Given the description of an element on the screen output the (x, y) to click on. 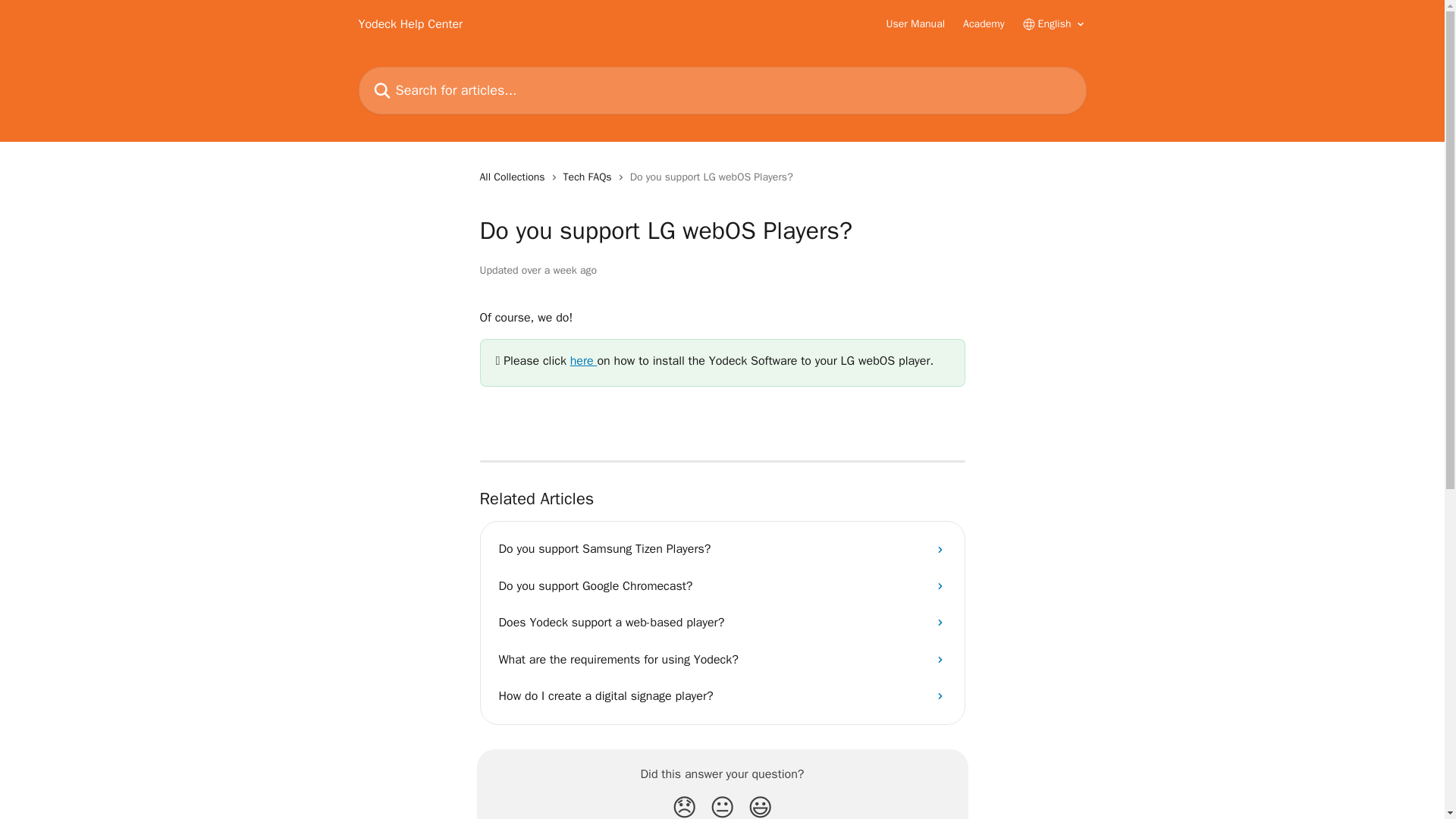
Disappointed (684, 805)
Tech FAQs (590, 176)
Do you support Samsung Tizen Players? (722, 548)
Academy (983, 23)
Does Yodeck support a web-based player? (722, 622)
User Manual (915, 23)
here (583, 360)
All Collections (514, 176)
Smiley (760, 805)
Do you support Google Chromecast? (722, 586)
